Given the description of an element on the screen output the (x, y) to click on. 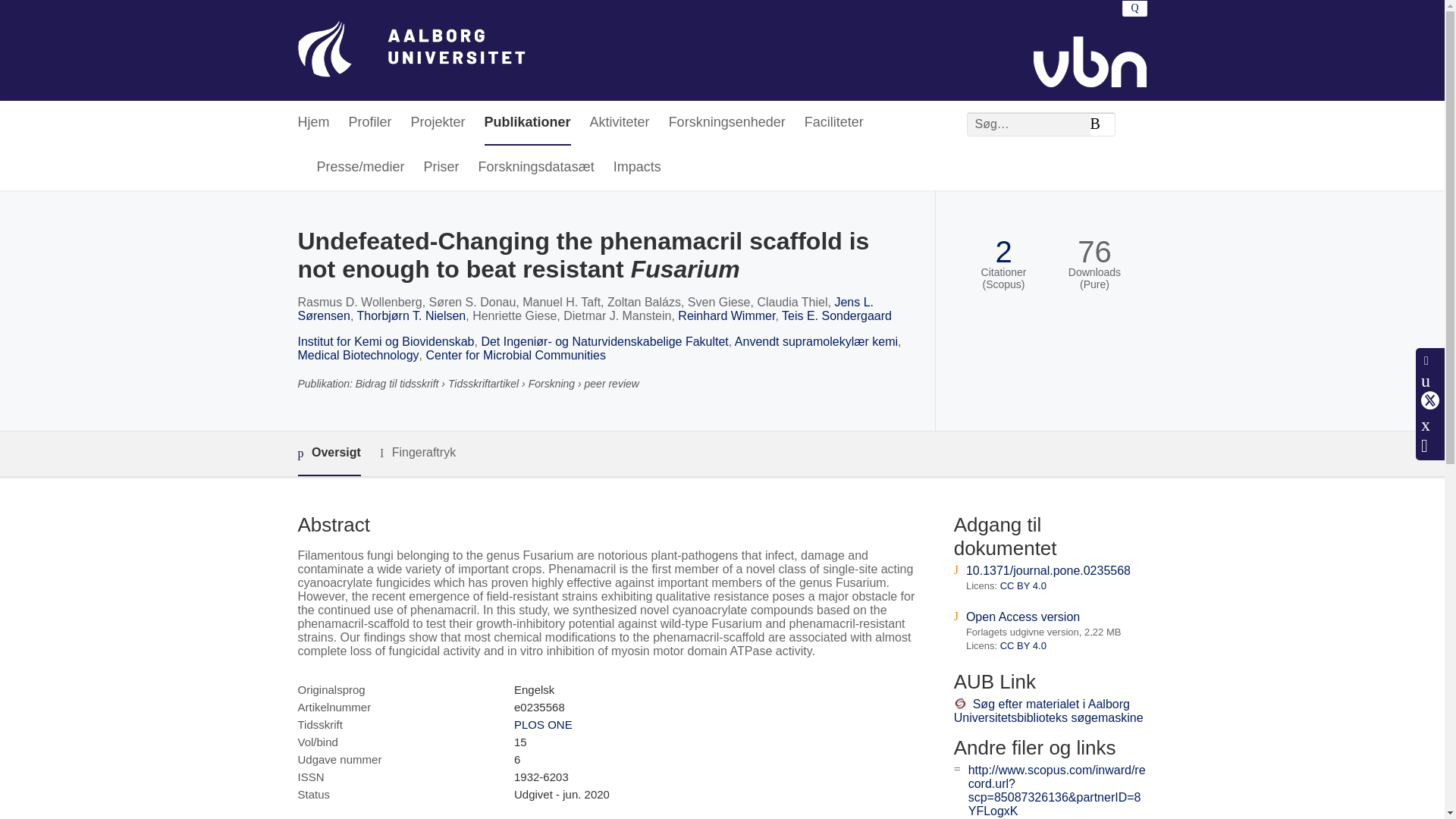
Impacts (636, 167)
Aktiviteter (619, 122)
CC BY 4.0 (1023, 645)
Institut for Kemi og Biovidenskab (385, 341)
Medical Biotechnology (358, 354)
Hjem (313, 122)
Aalborg Universitets forskningsportal Hjem (410, 50)
Priser (441, 167)
CC BY 4.0 (1023, 585)
Forskningsenheder (727, 122)
Faciliteter (834, 122)
Oversigt (328, 453)
2 (1002, 252)
Projekter (437, 122)
